Given the description of an element on the screen output the (x, y) to click on. 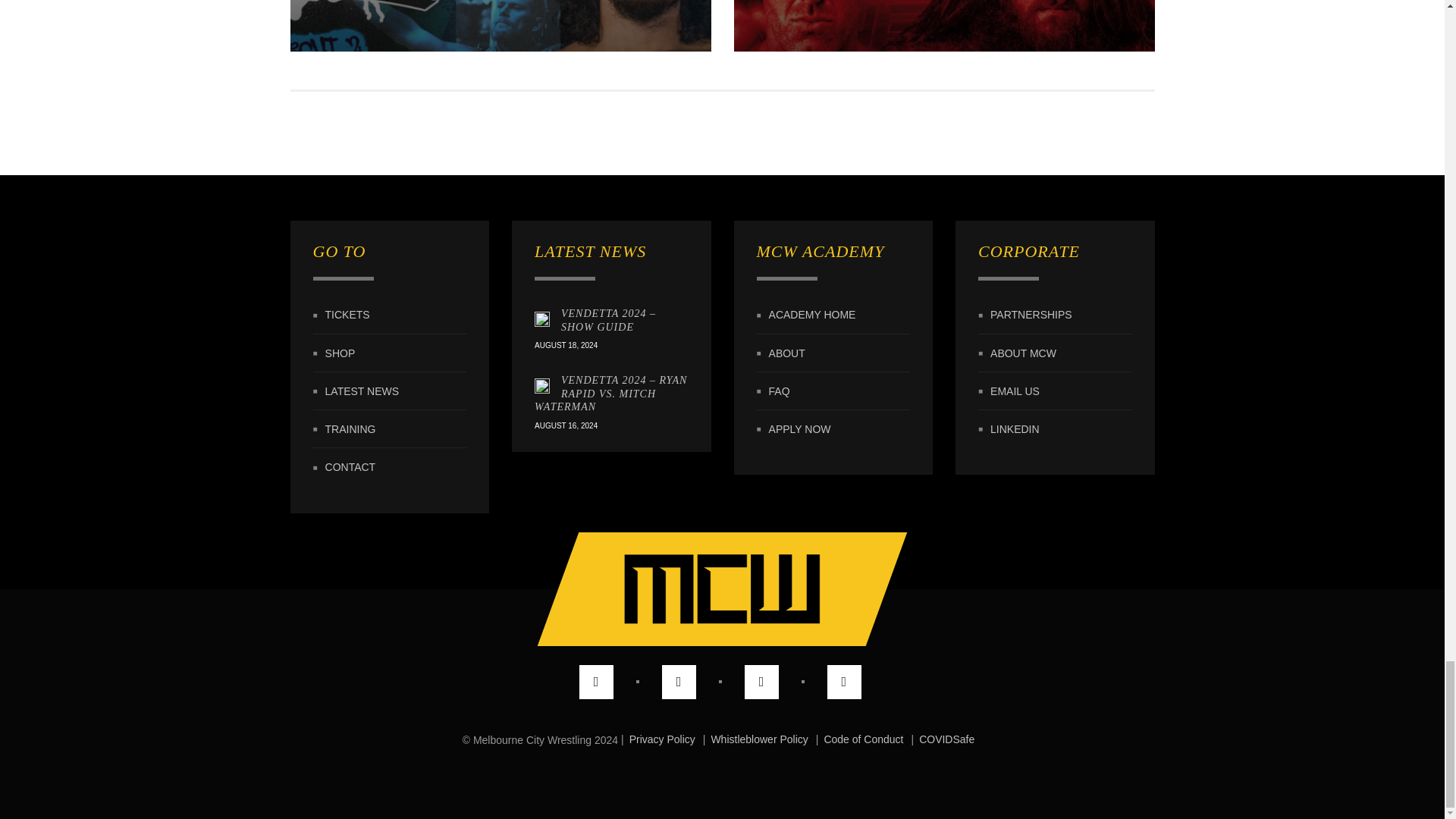
FAQ (779, 390)
CONTACT (349, 467)
SHOP (339, 353)
ABOUT (786, 353)
ABOUT MCW (1023, 353)
LATEST NEWS (361, 390)
Go to top (701, 589)
TICKETS (346, 315)
APPLY NOW (799, 428)
PARTNERSHIPS (1030, 315)
